Given the description of an element on the screen output the (x, y) to click on. 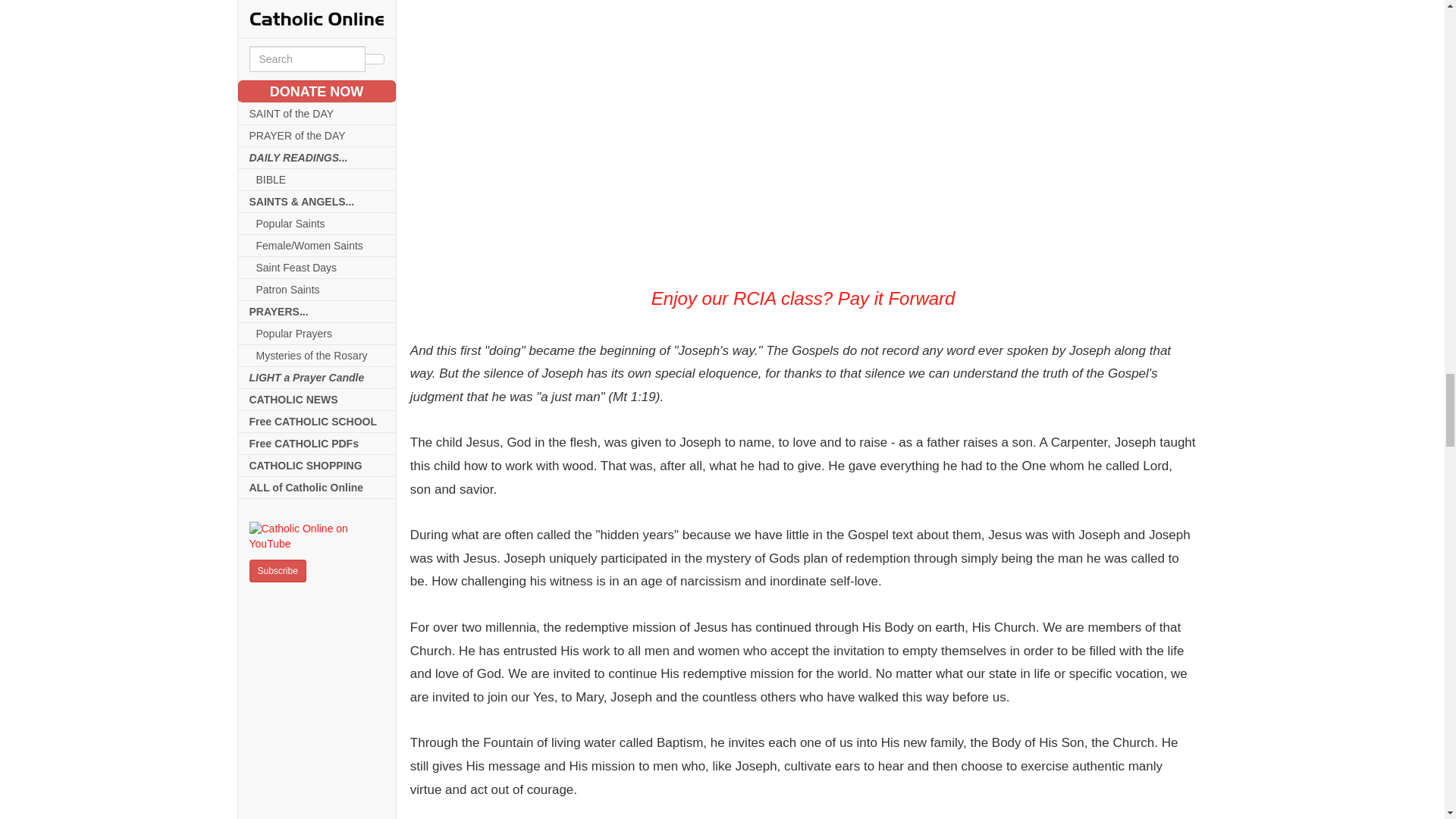
Enjoy our RCIA class? Pay it Forward (802, 136)
